Given the description of an element on the screen output the (x, y) to click on. 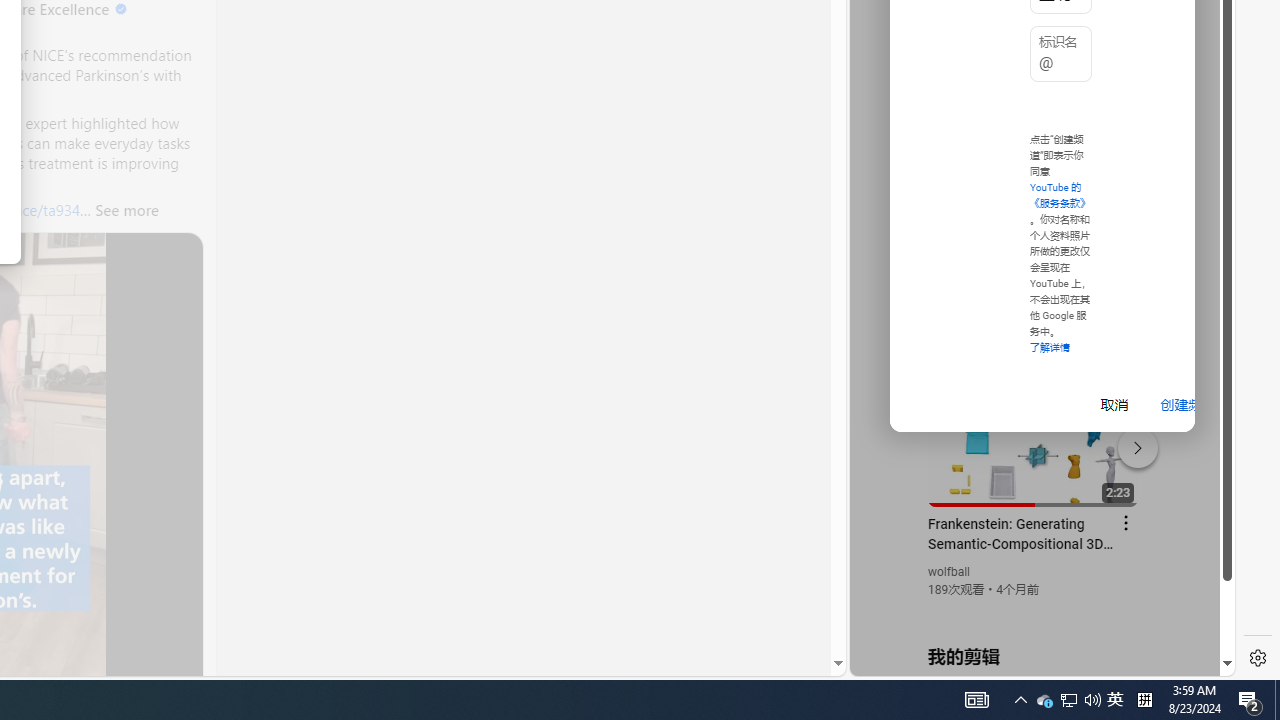
Class: dict_pnIcon rms_img (1028, 660)
wolfball (949, 572)
YouTube - YouTube (1034, 266)
